Given the description of an element on the screen output the (x, y) to click on. 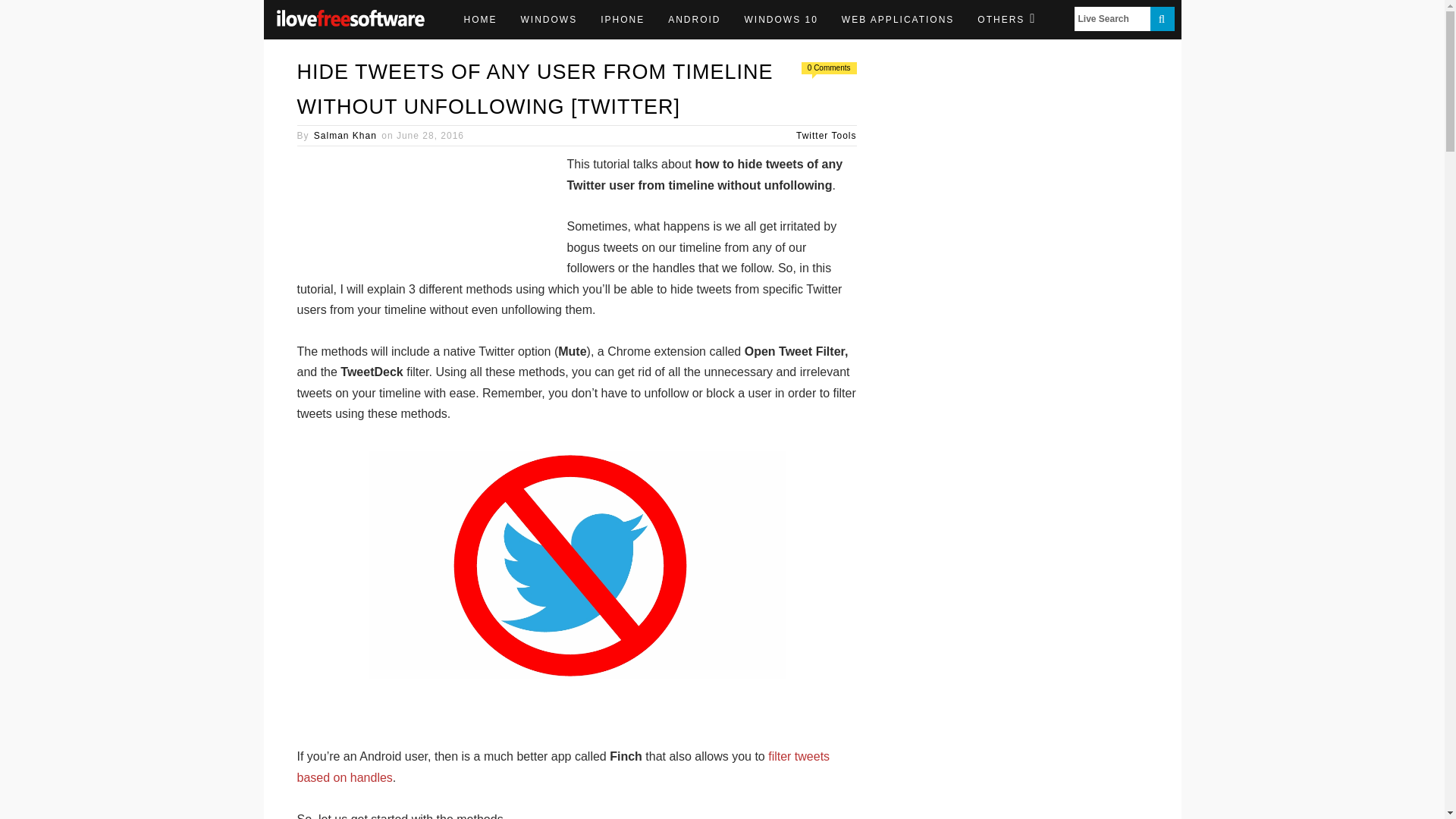
WINDOWS (549, 19)
filter tweets based on handles (563, 766)
SEARCH (1161, 18)
WINDOWS 10 (781, 19)
HOME (479, 19)
0 Comments (829, 67)
Twitter Tools (826, 135)
Posts by Salman Khan (345, 135)
IPHONE (622, 19)
